Given the description of an element on the screen output the (x, y) to click on. 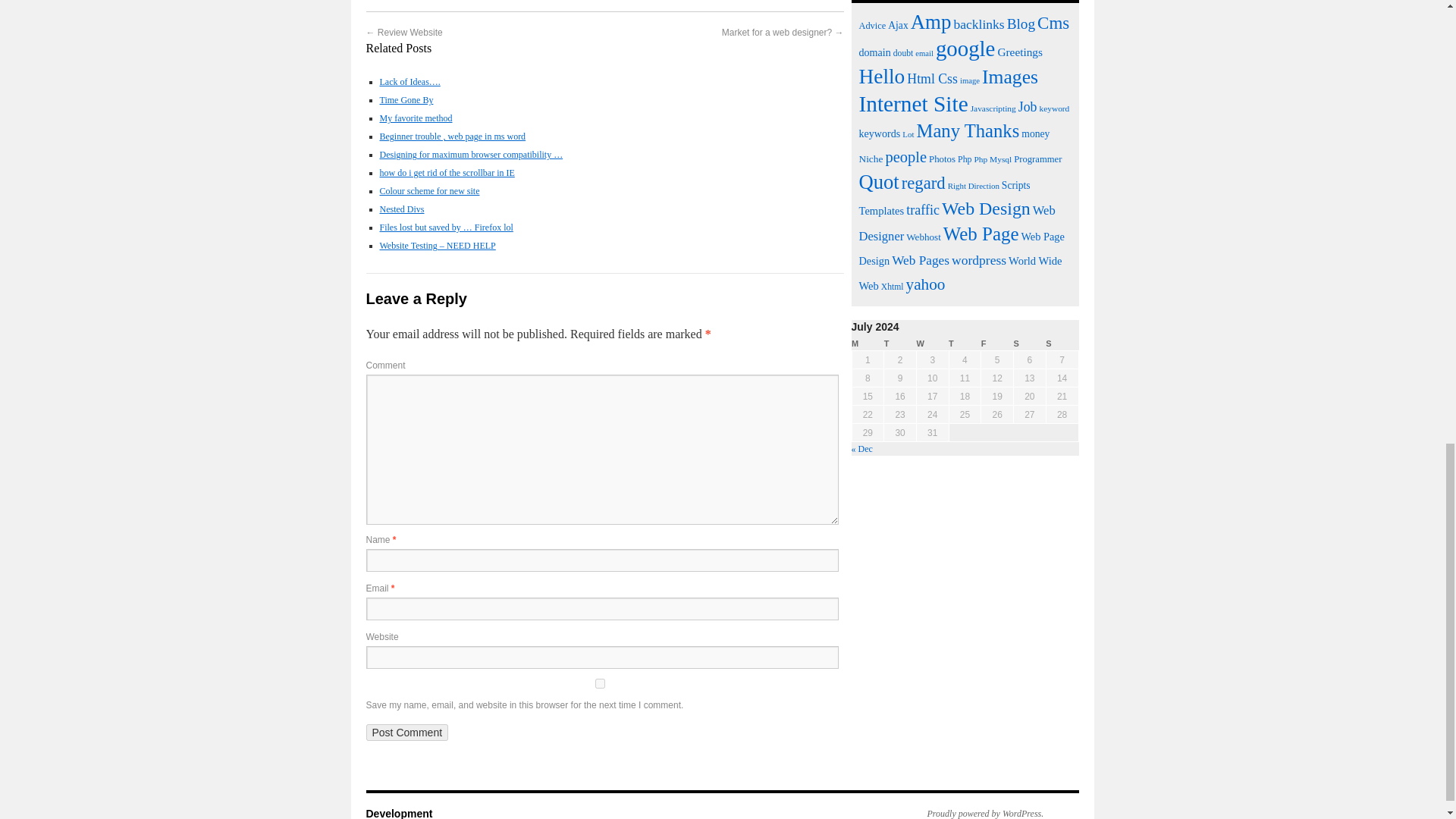
Time Gone By  (405, 100)
Beginner trouble , web page in ms word (451, 136)
how do i get rid of the scrollbar in IE (445, 172)
yes (598, 683)
Time Gone By (405, 100)
My favorite method (414, 118)
Post Comment (406, 732)
how do i get rid of the scrollbar in IE  (445, 172)
My favorite method  (414, 118)
Colour scheme for new site  (428, 190)
Nested Divs  (400, 208)
Nested Divs (400, 208)
Colour scheme for new site (428, 190)
Beginner  trouble , web page in ms word  (451, 136)
